Given the description of an element on the screen output the (x, y) to click on. 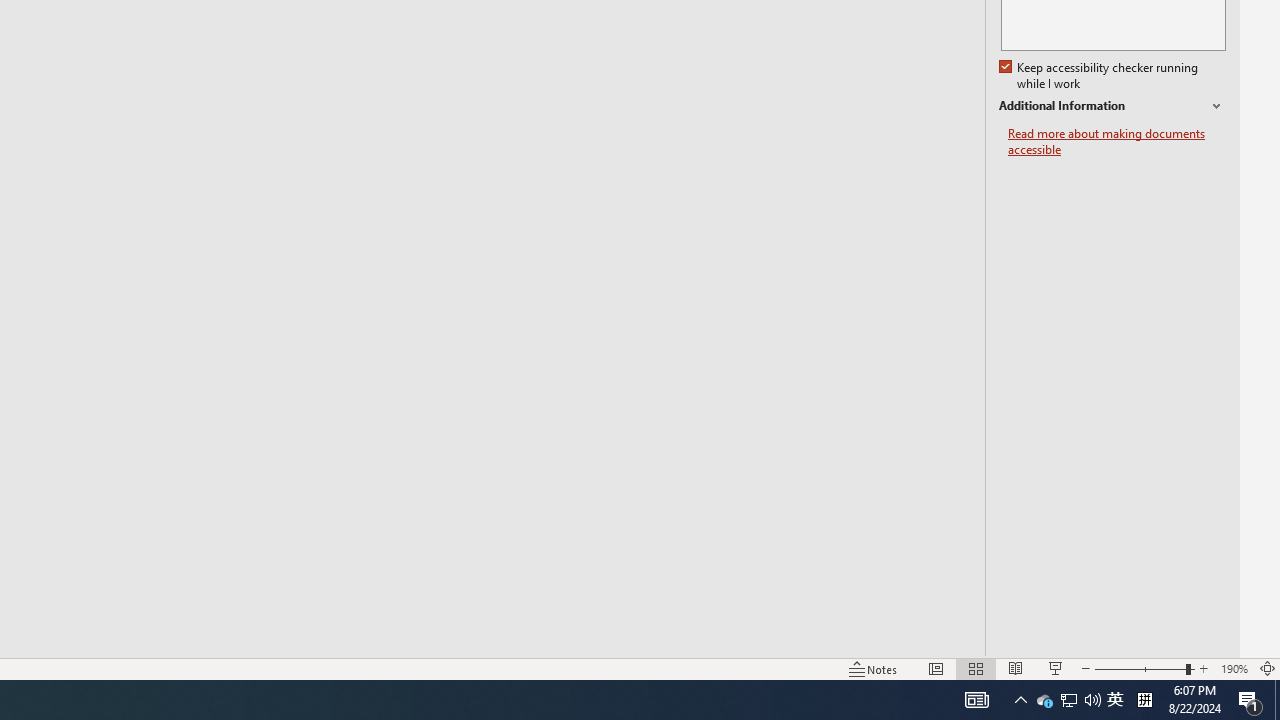
Read more about making documents accessible (1117, 142)
Additional Information (1112, 106)
Zoom 190% (1234, 668)
Keep accessibility checker running while I work (1099, 76)
